Given the description of an element on the screen output the (x, y) to click on. 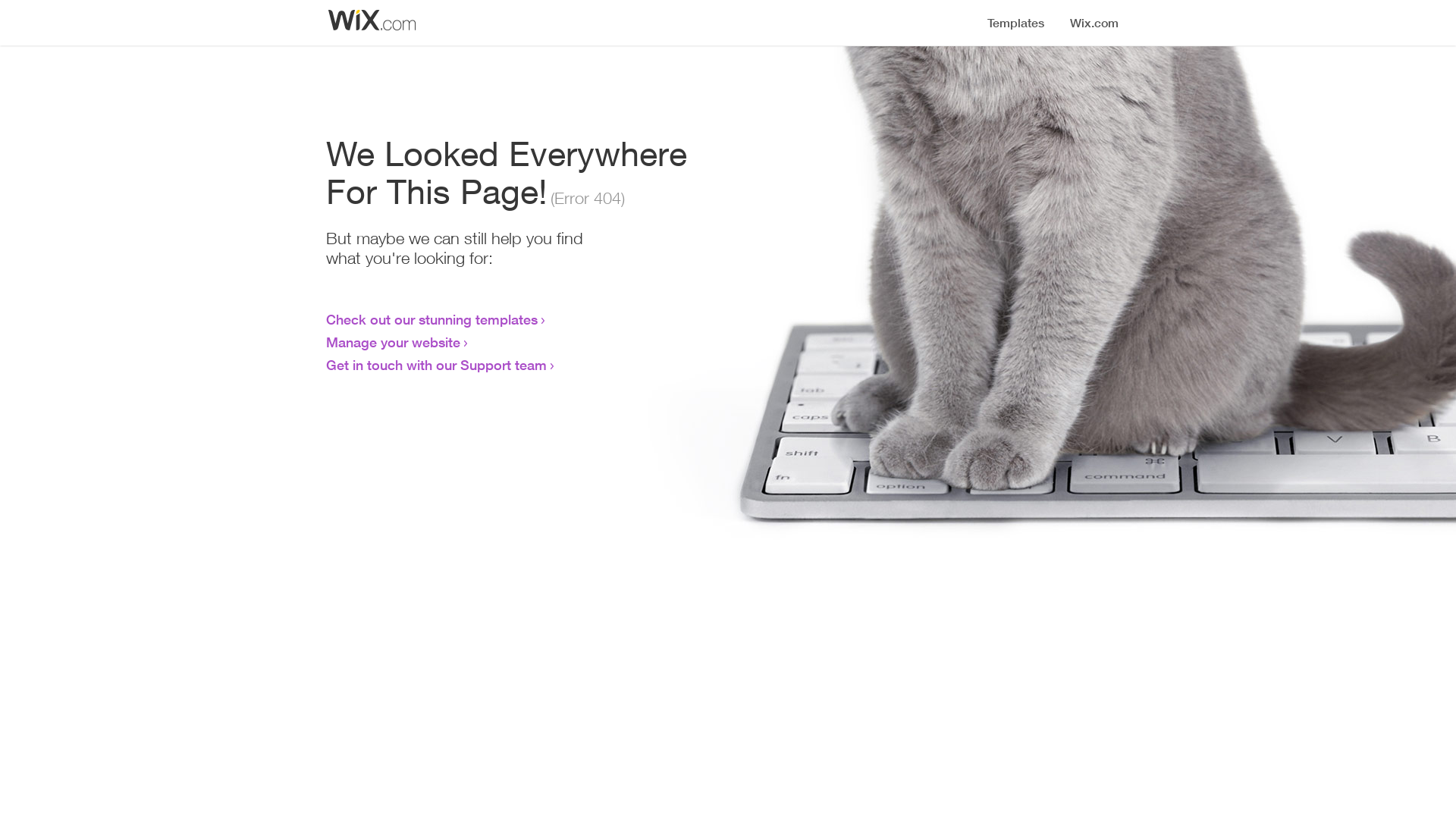
Check out our stunning templates Element type: text (431, 318)
Manage your website Element type: text (393, 341)
Get in touch with our Support team Element type: text (436, 364)
